Given the description of an element on the screen output the (x, y) to click on. 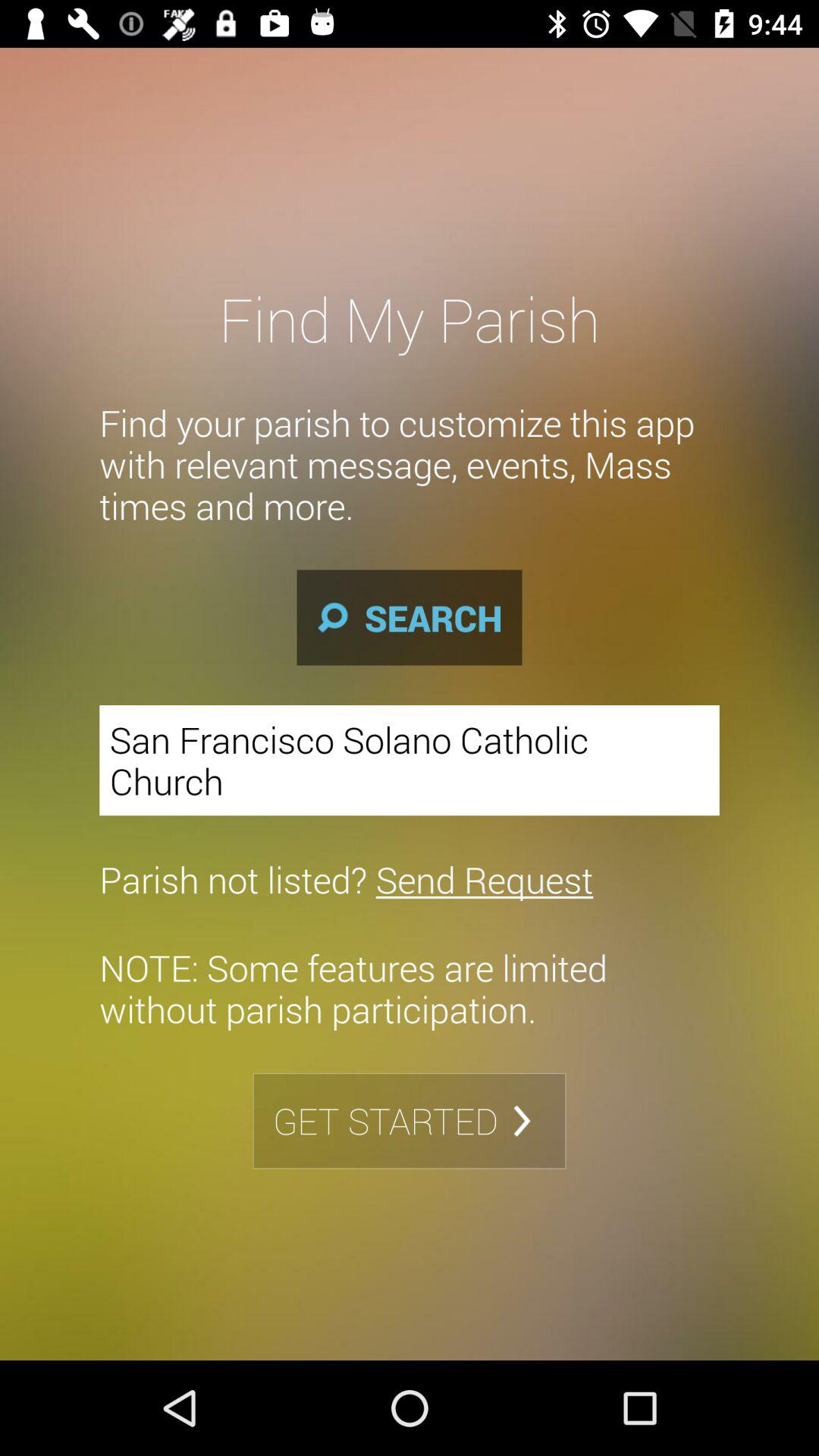
choose the san francisco solano (409, 760)
